Given the description of an element on the screen output the (x, y) to click on. 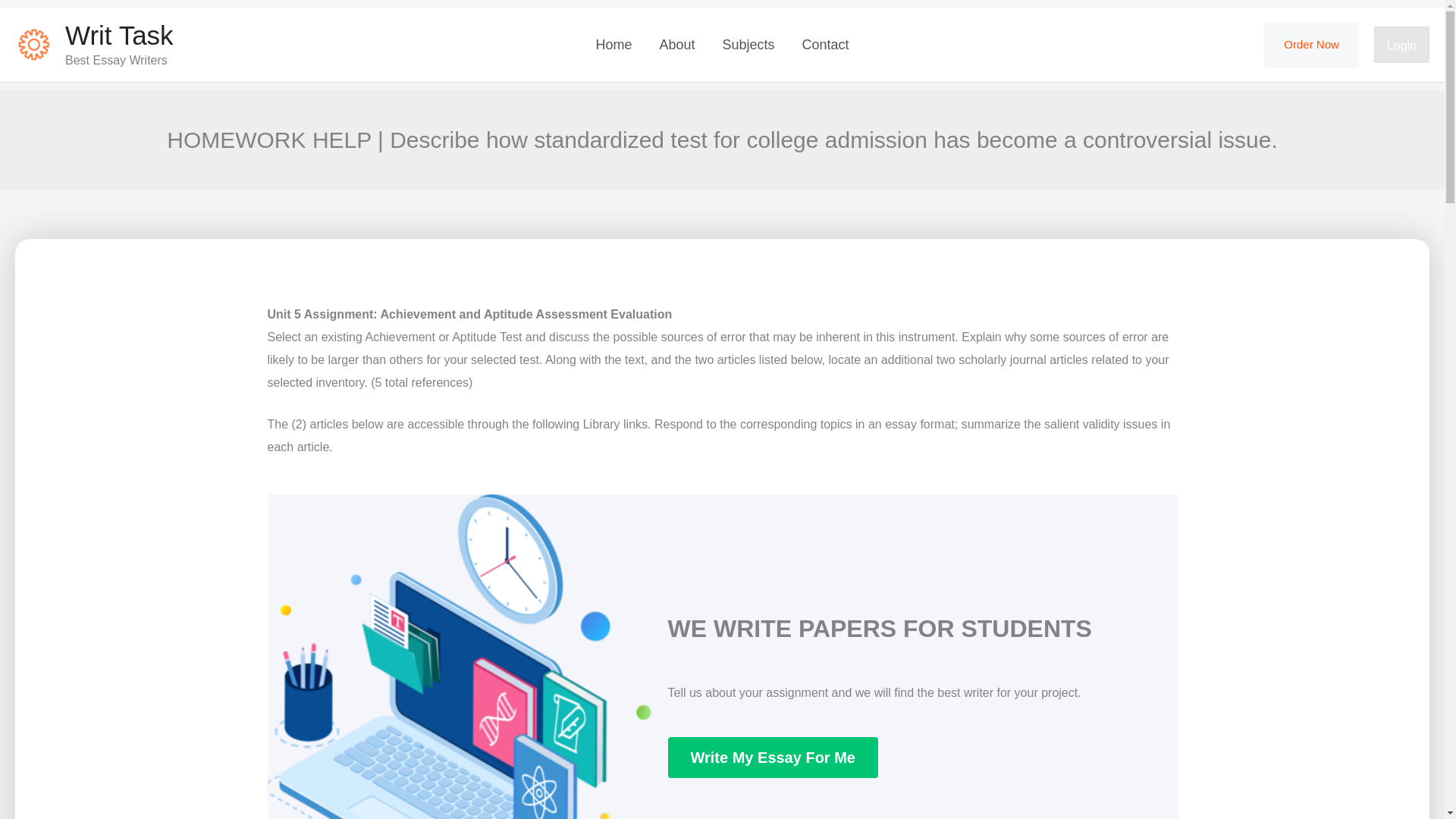
Login (1401, 45)
Subjects (747, 44)
Write My Essay For Me (771, 757)
Home (612, 44)
Login (1401, 44)
Contact (826, 44)
Order Now (1310, 44)
About (676, 44)
Writ Task (119, 34)
